Given the description of an element on the screen output the (x, y) to click on. 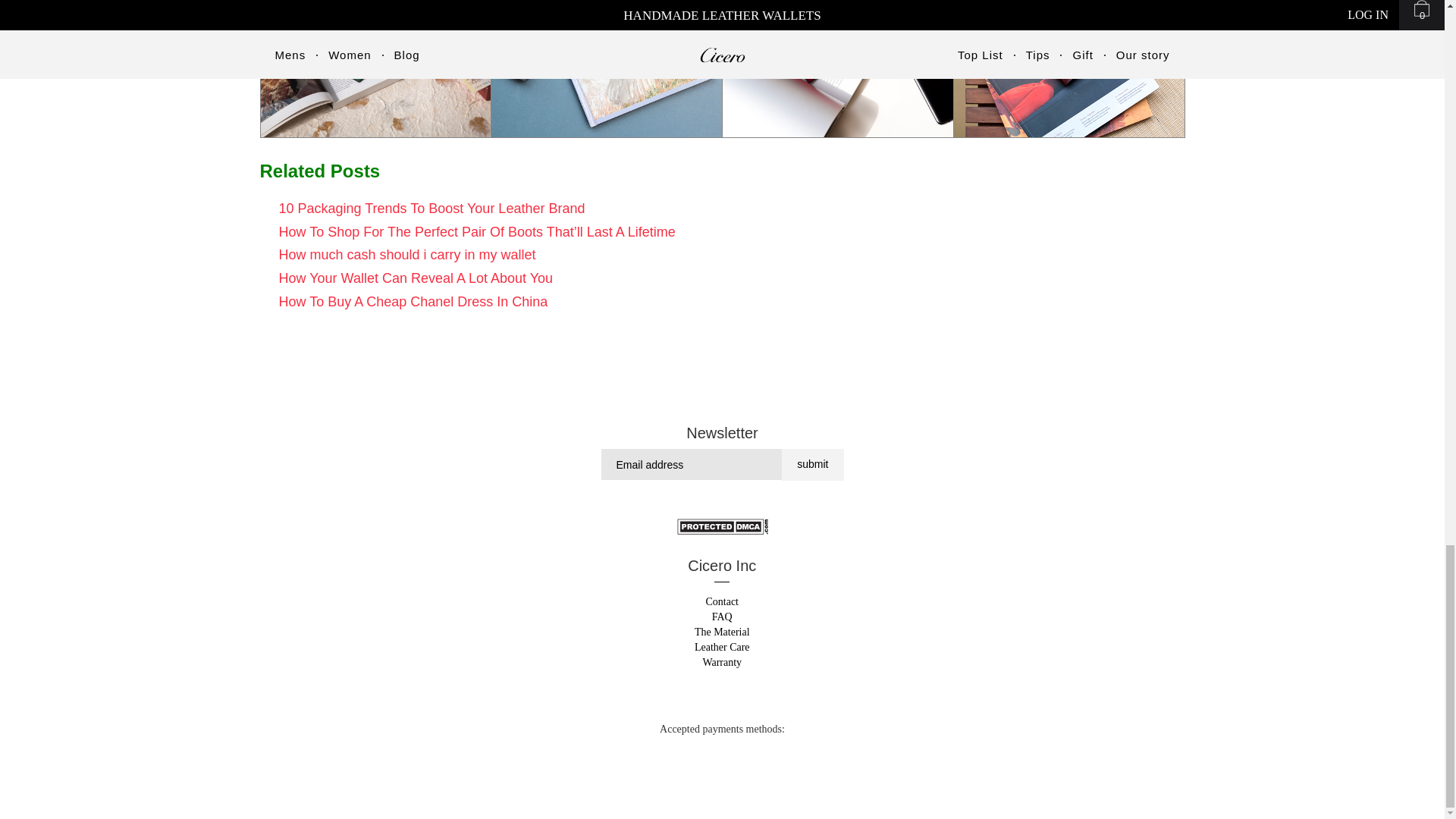
The Material (721, 632)
Contact (721, 601)
How Your Wallet Can Reveal A Lot About You (416, 278)
How To Buy A Cheap Chanel Dress In China (413, 301)
Leather Care (721, 646)
10 Packaging Trends To Boost Your Leather Brand (432, 208)
Mens Bifold Leather Wallets Black Green (376, 69)
How Your Wallet Can Reveal A Lot About You (416, 278)
How much cash should i carry in my wallet (407, 254)
How much cash should i carry in my wallet (407, 254)
Mens Leather Bifold Wallets USA Burgundy (1069, 69)
FAQ (721, 616)
Mens Leather Bifold Wallets Black Blue (607, 69)
How To Buy A Cheap Chanel Dress In China (413, 301)
10 Packaging Trends To Boost Your Leather Brand (432, 208)
